Given the description of an element on the screen output the (x, y) to click on. 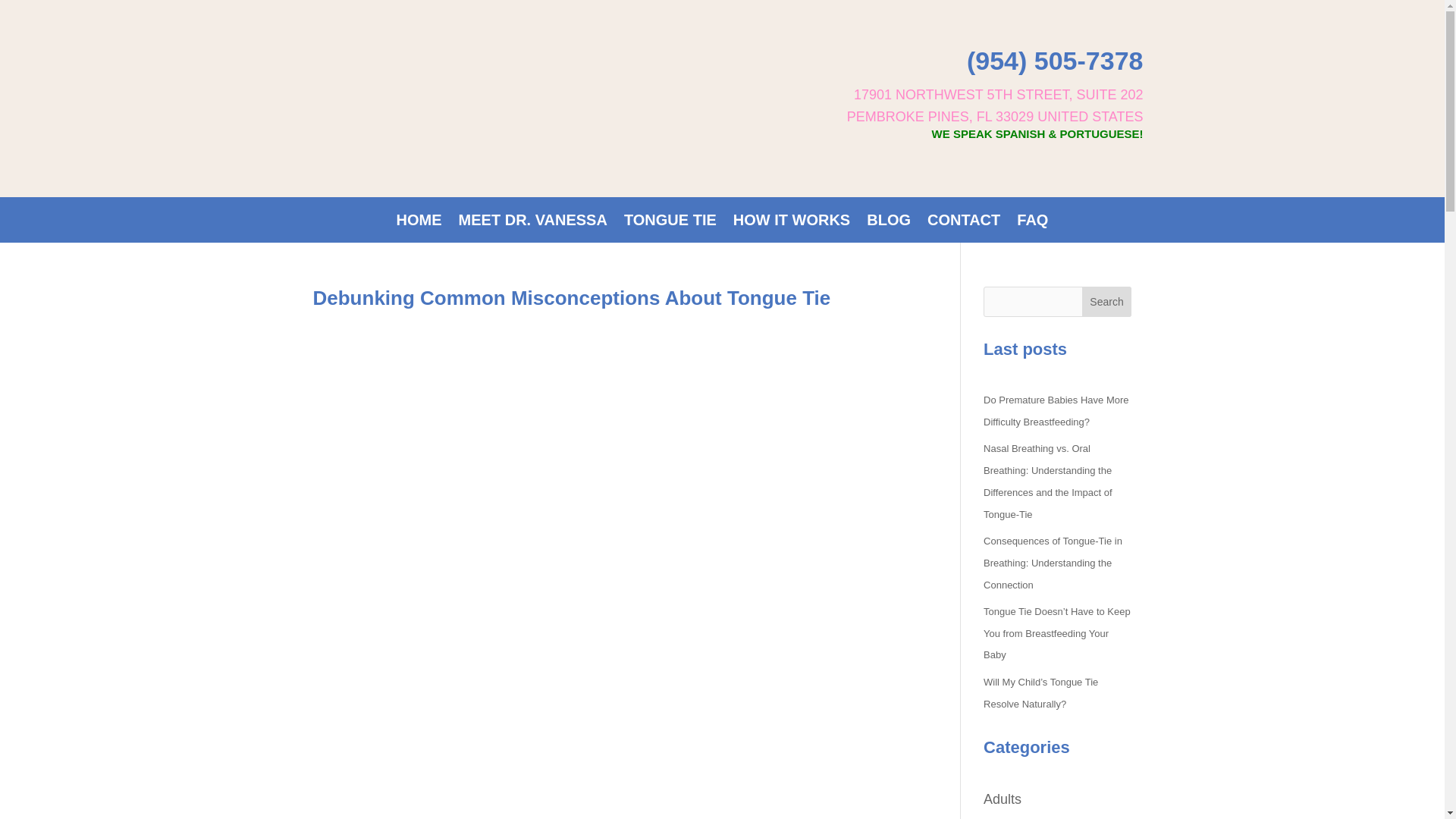
TONGUE TIE (670, 222)
MEET DR. VANESSA (532, 222)
HOW IT WORKS (791, 222)
Adults (1003, 798)
CONTACT (963, 222)
FAQ (1032, 222)
Do Premature Babies Have More Difficulty Breastfeeding? (1056, 410)
